Given the description of an element on the screen output the (x, y) to click on. 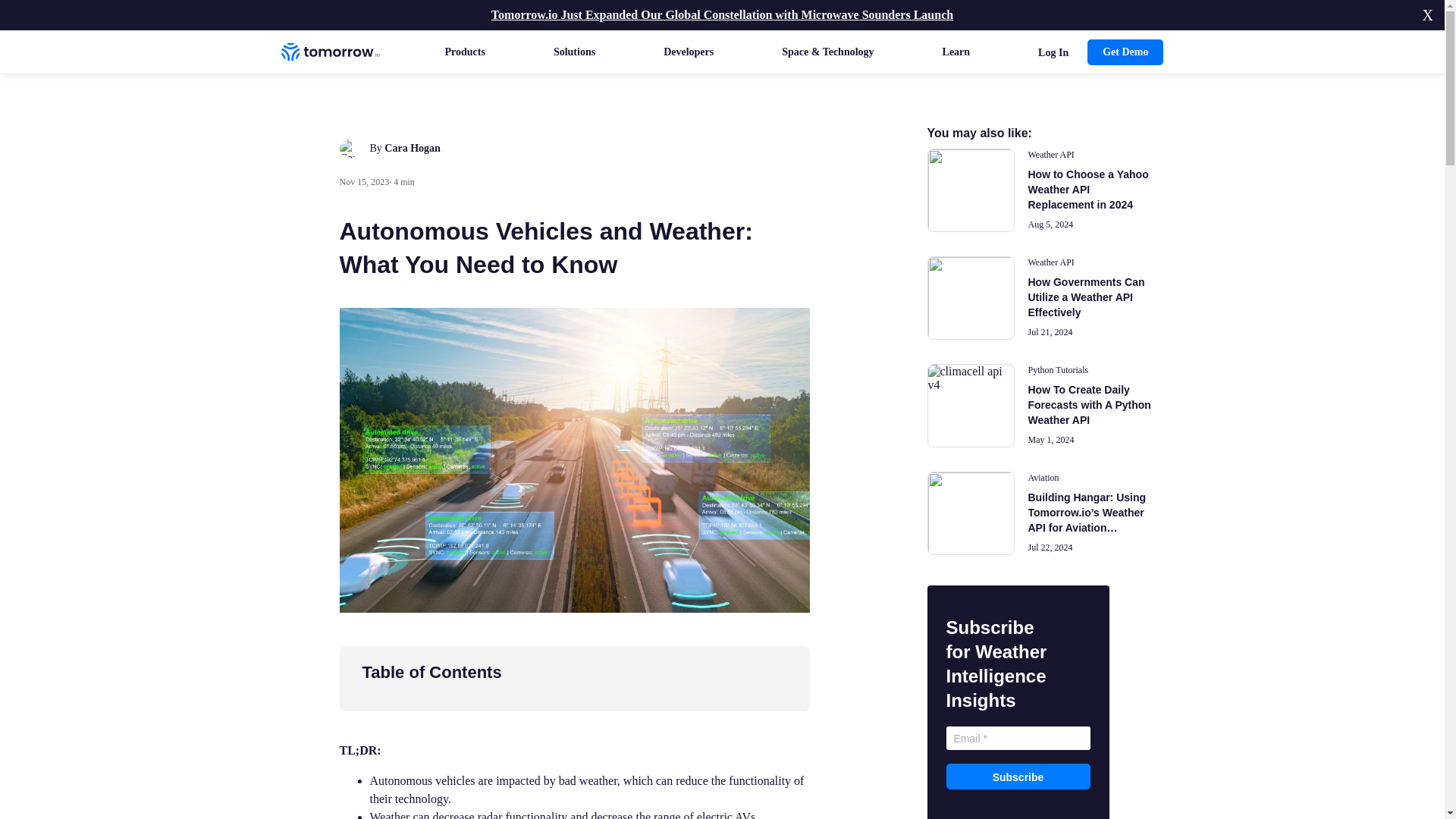
Solutions (574, 51)
Products (464, 51)
Back to the blog (362, 100)
Developers (688, 51)
Subscribe (1018, 776)
